Given the description of an element on the screen output the (x, y) to click on. 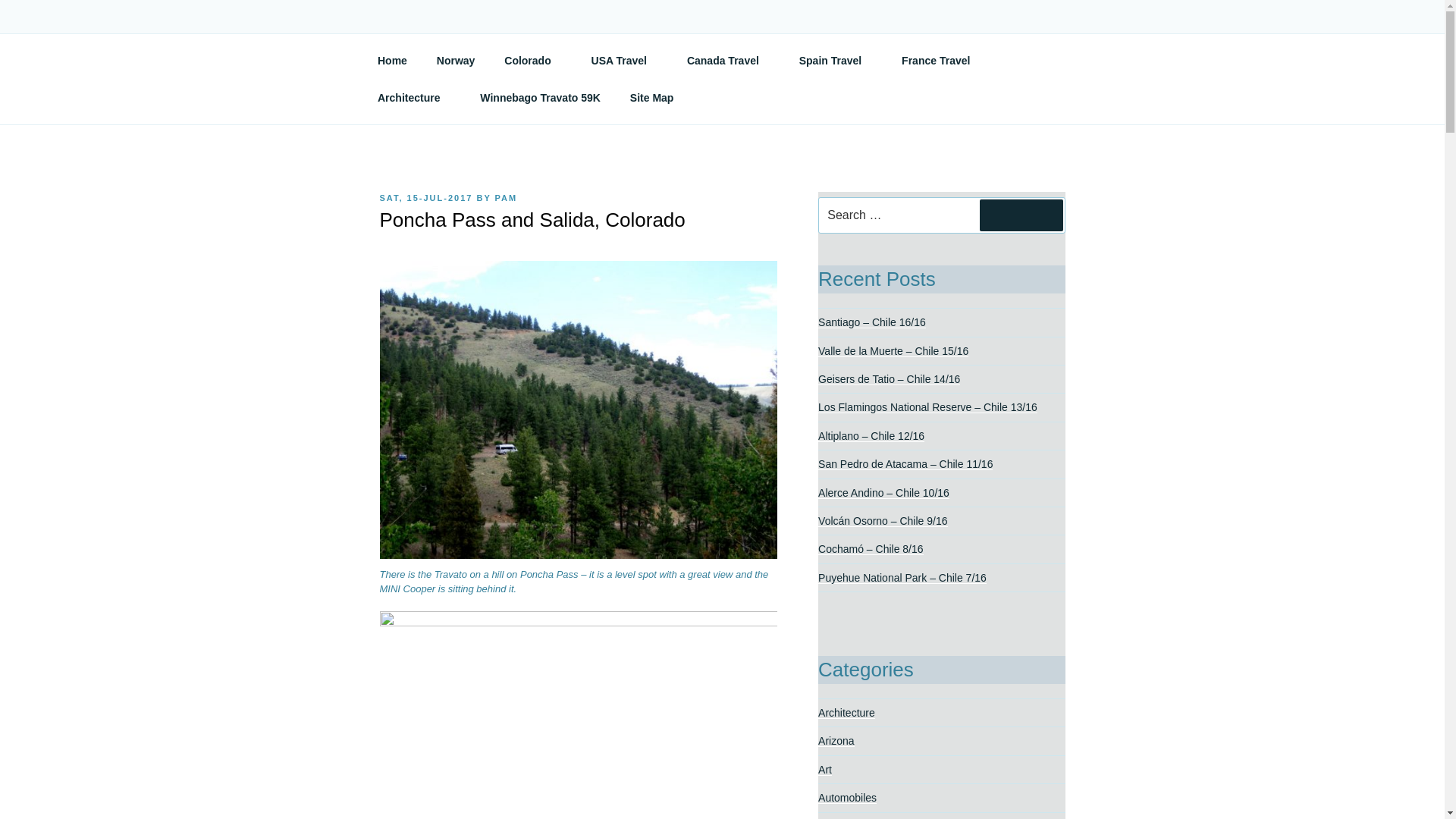
TEAL SKY (454, 52)
USA Travel (623, 60)
Spain Travel (835, 60)
Colorado (533, 60)
Norway (455, 60)
Home (392, 60)
Canada Travel (727, 60)
